Given the description of an element on the screen output the (x, y) to click on. 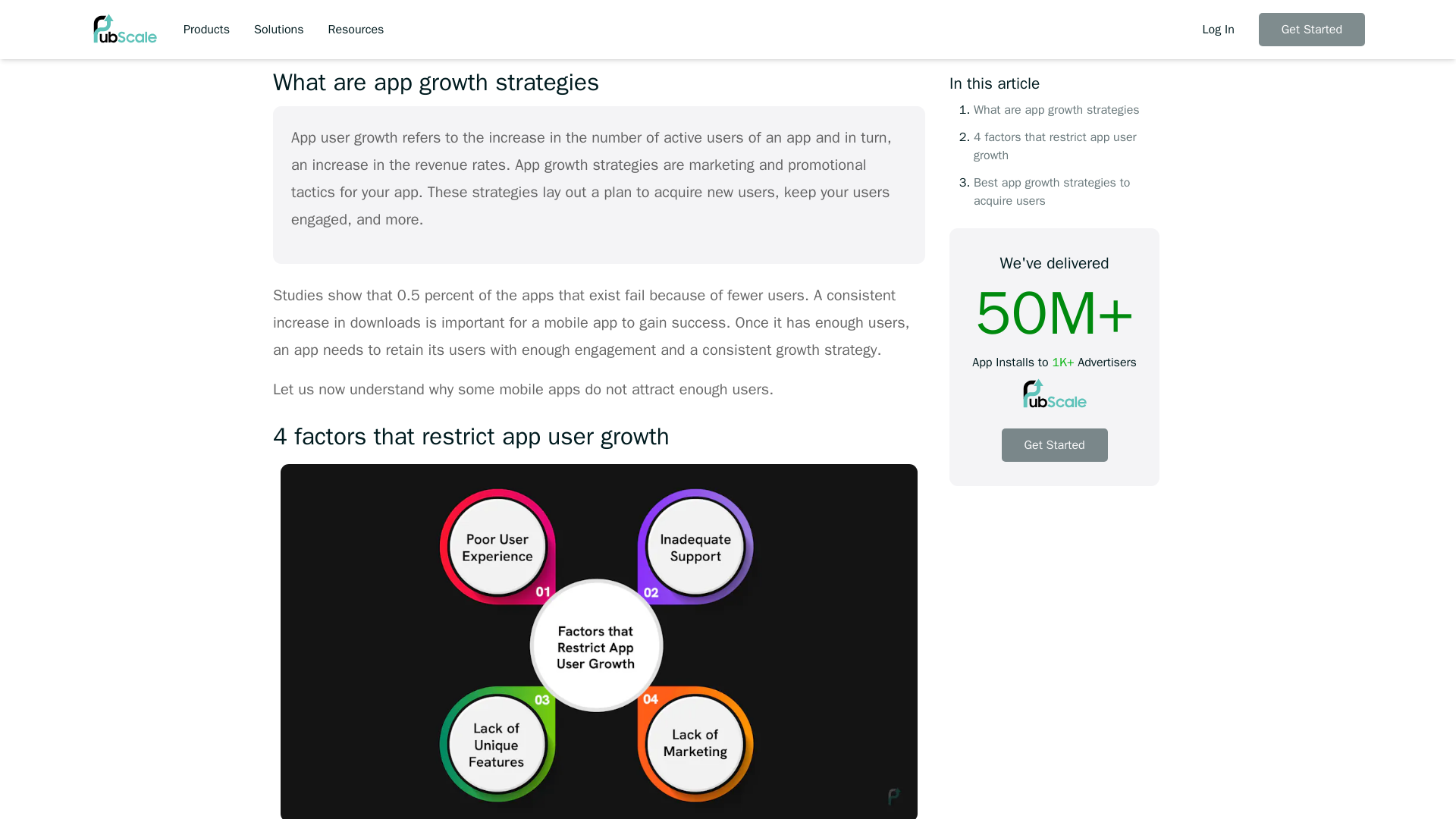
Get Started (1053, 151)
